Given the description of an element on the screen output the (x, y) to click on. 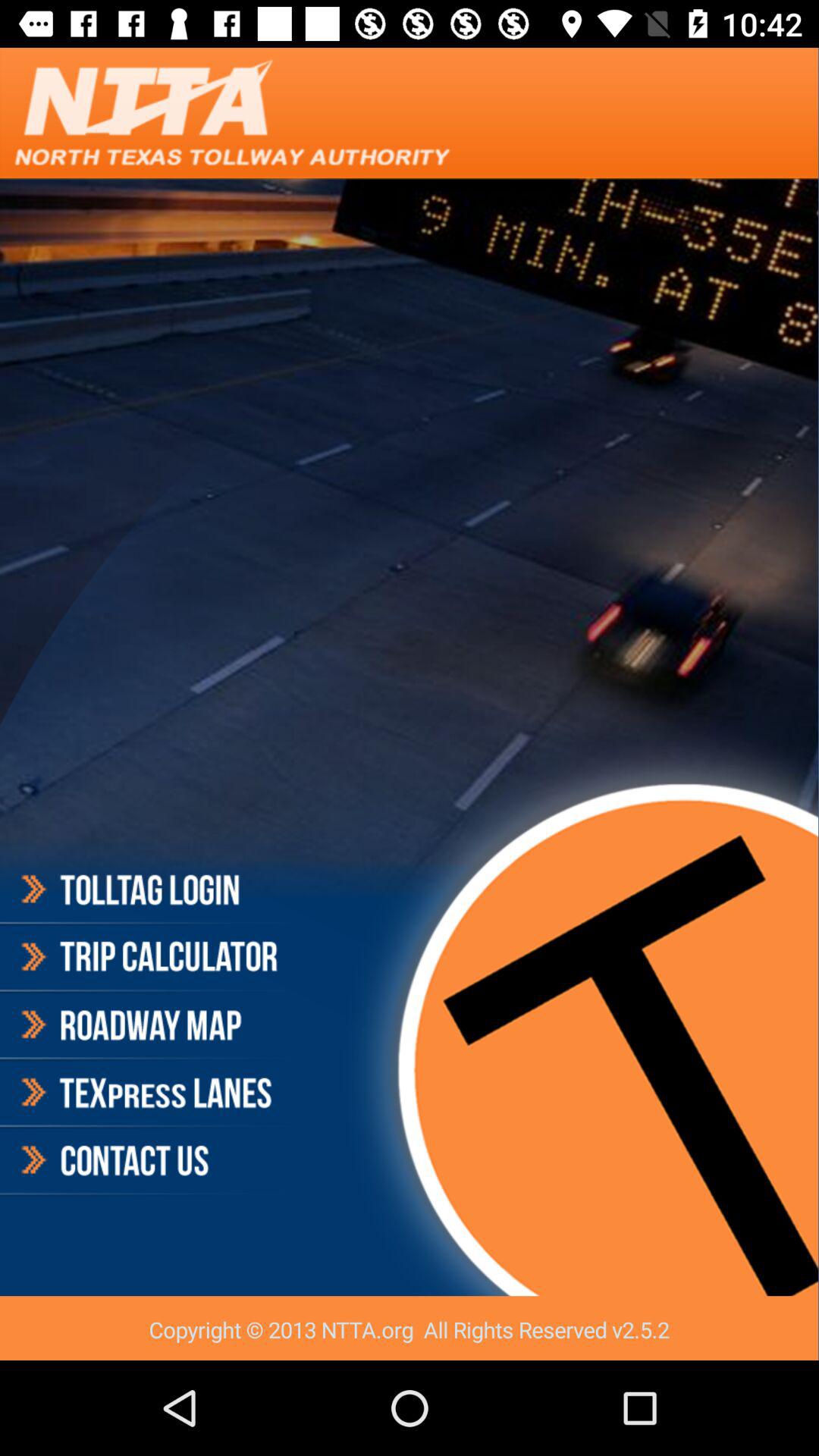
show more information about lanes (147, 1092)
